Given the description of an element on the screen output the (x, y) to click on. 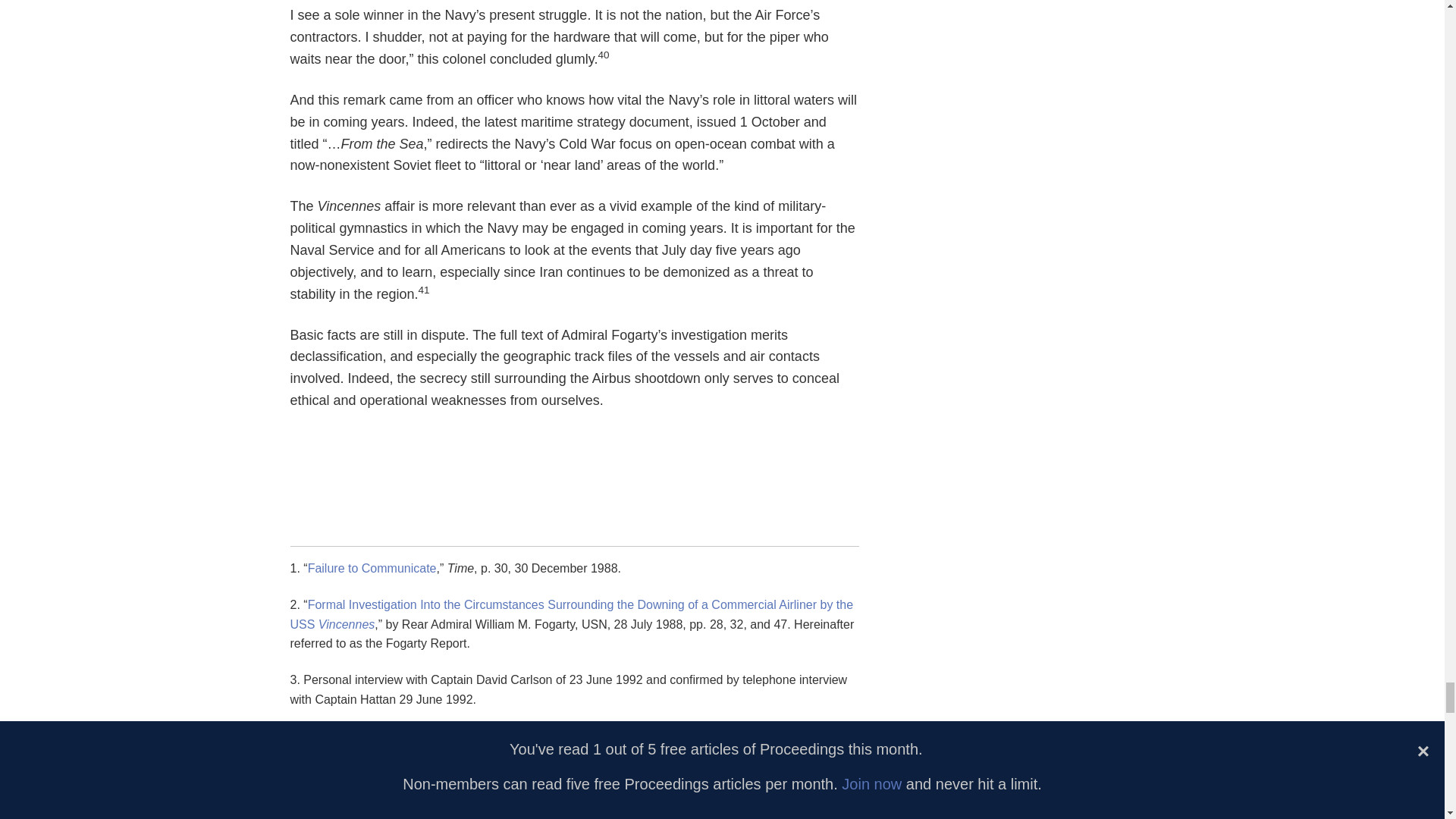
Storm Center (338, 735)
